Given the description of an element on the screen output the (x, y) to click on. 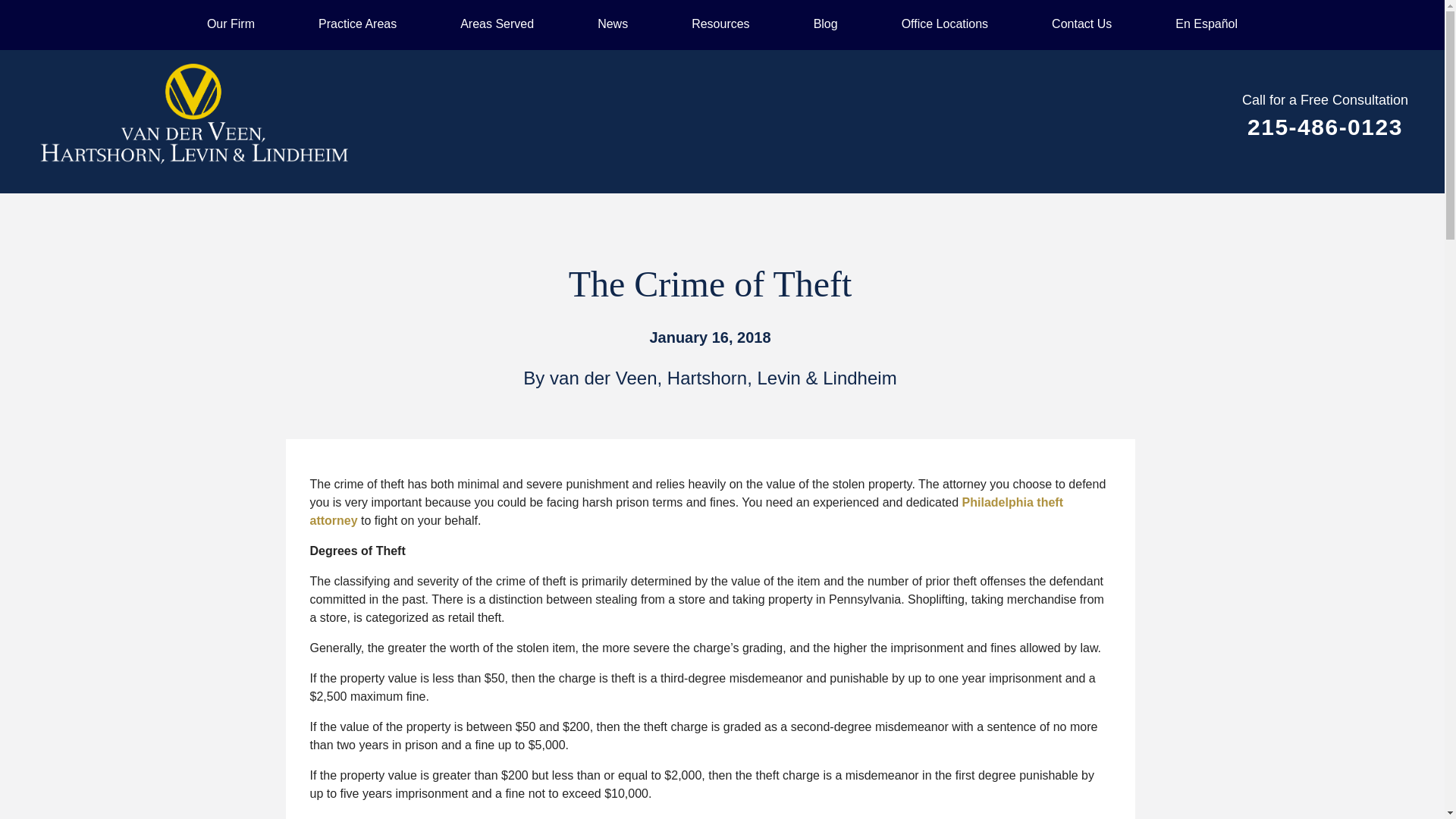
Our Firm (230, 24)
Practice Areas (357, 24)
